Given the description of an element on the screen output the (x, y) to click on. 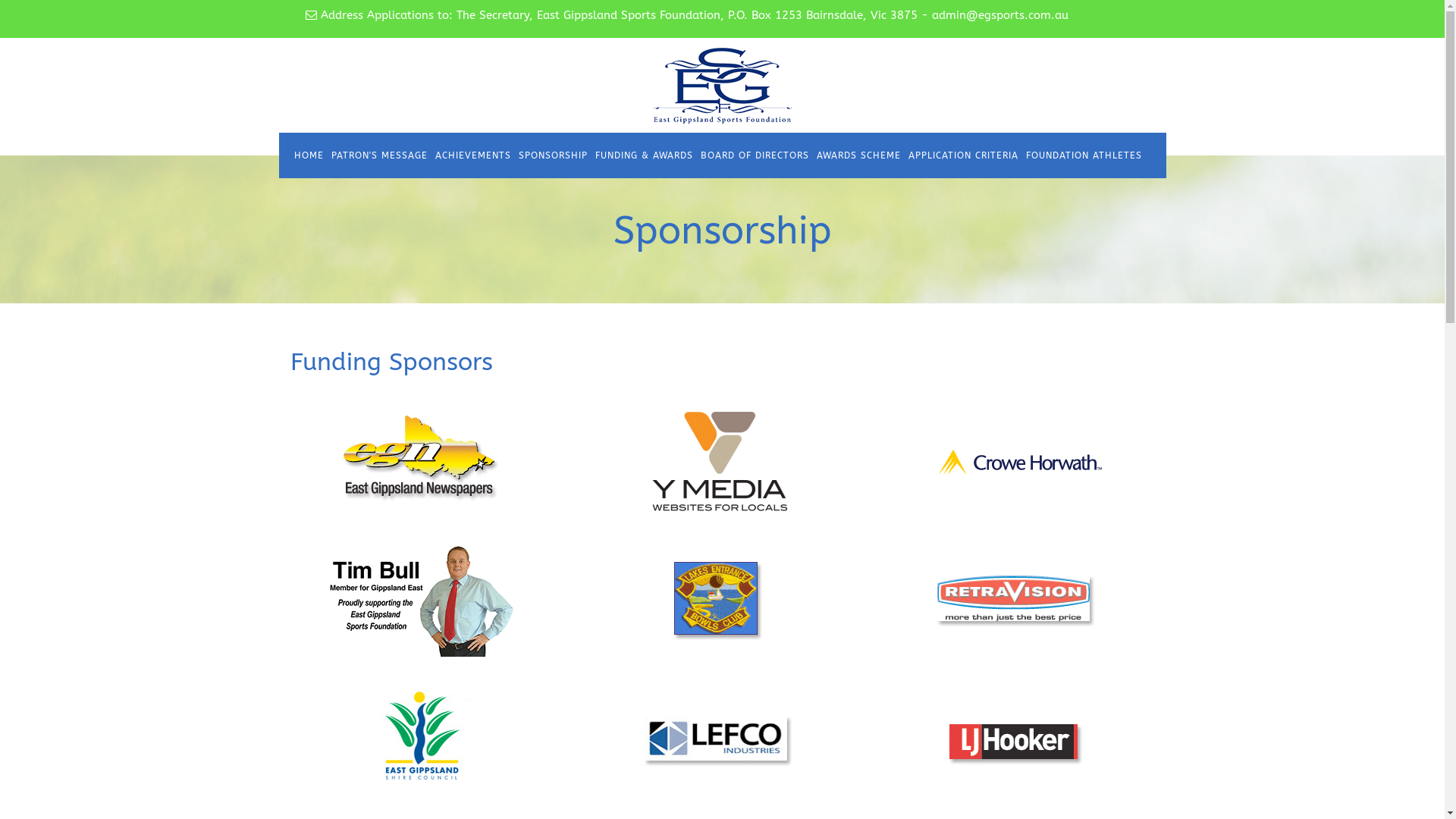
HOME Element type: text (307, 155)
PATRON'S MESSAGE Element type: text (379, 155)
BOARD OF DIRECTORS Element type: text (754, 155)
FOUNDATION ATHLETES Element type: text (1083, 155)
ACHIEVEMENTS Element type: text (472, 155)
APPLICATION CRITERIA Element type: text (962, 155)
AWARDS SCHEME Element type: text (858, 155)
admin@egsports.com.au Element type: text (999, 14)
FUNDING & AWARDS Element type: text (643, 155)
SPONSORSHIP Element type: text (552, 155)
